Given the description of an element on the screen output the (x, y) to click on. 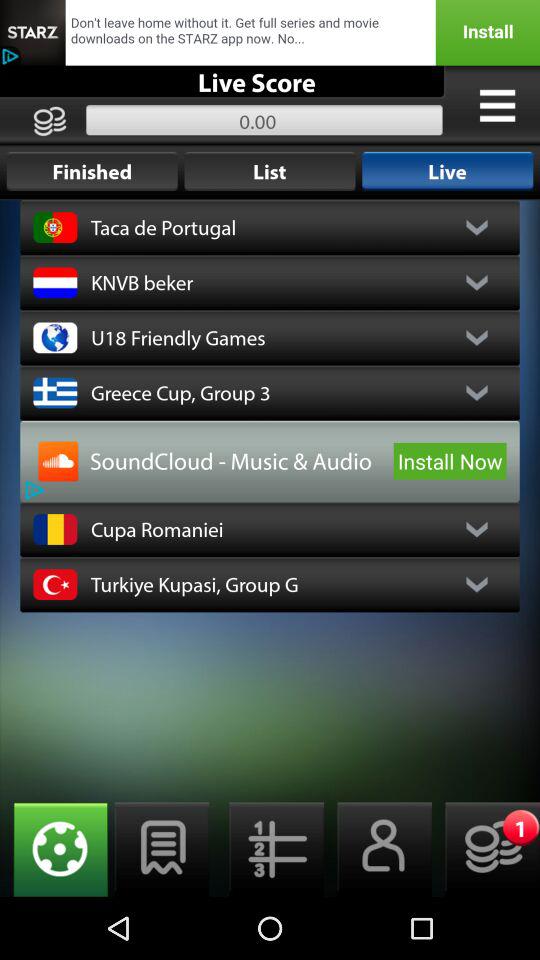
profile image (58, 461)
